Given the description of an element on the screen output the (x, y) to click on. 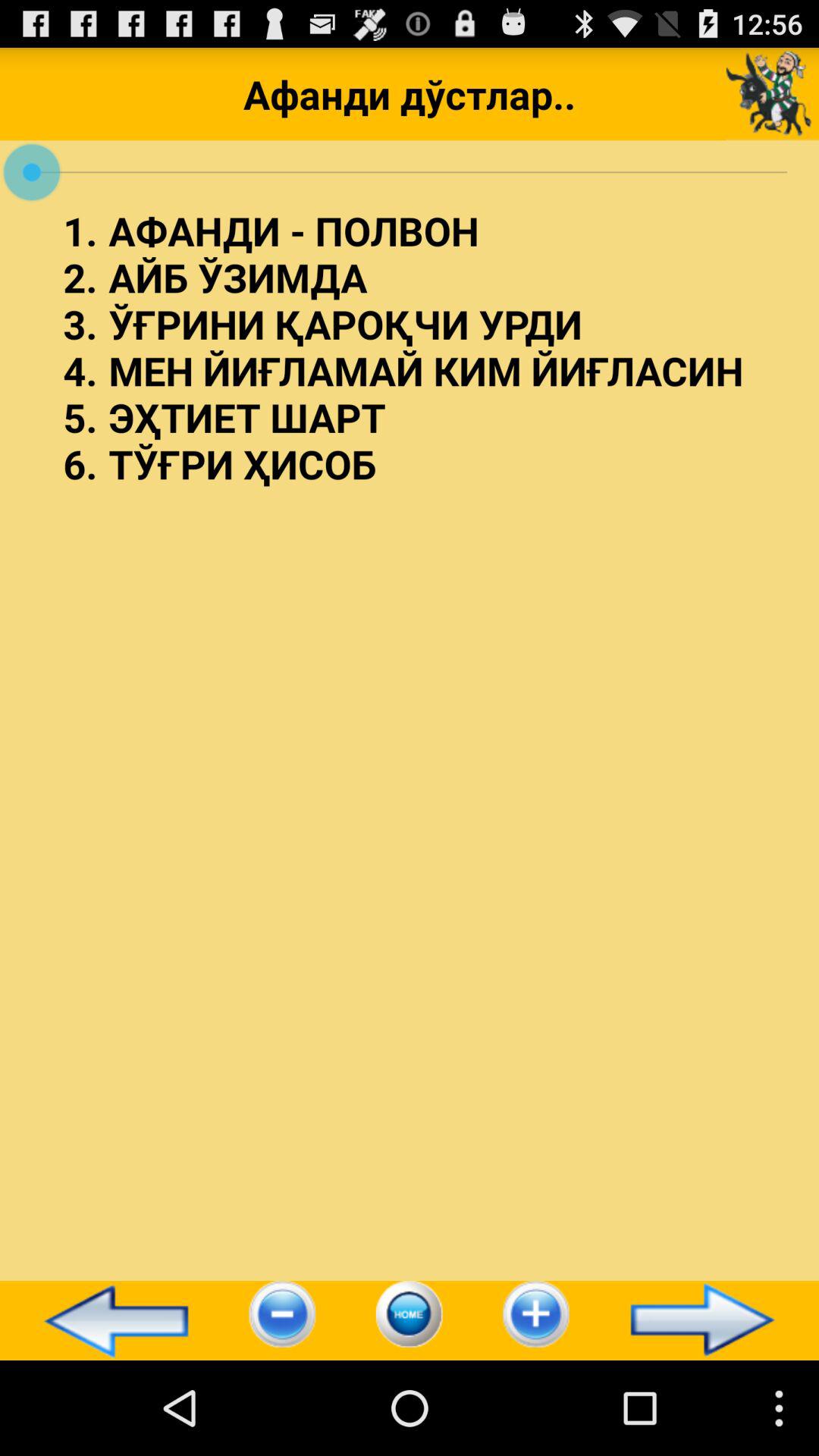
press item at the bottom left corner (109, 1320)
